Given the description of an element on the screen output the (x, y) to click on. 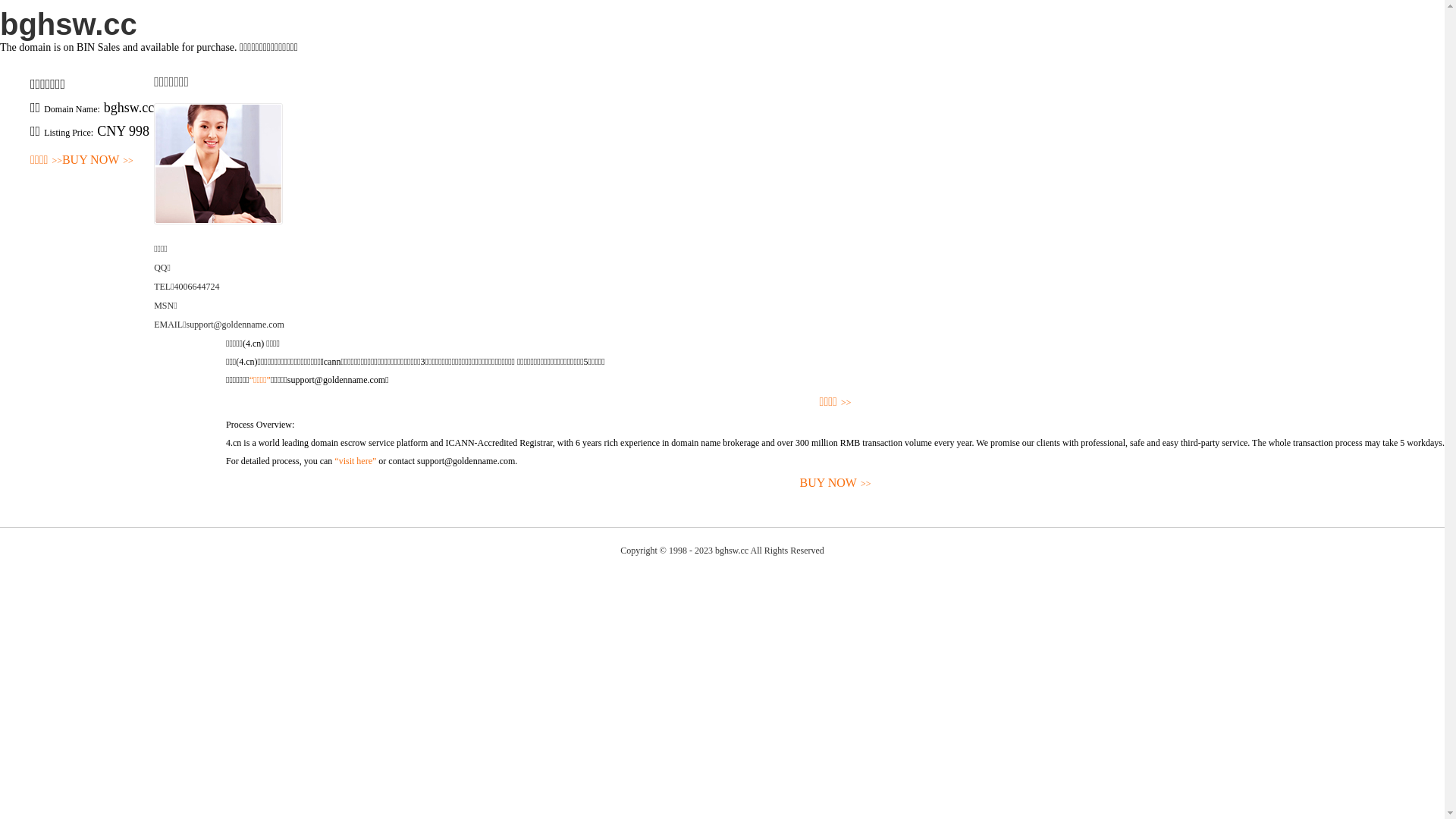
BUY NOW>> Element type: text (97, 160)
BUY NOW>> Element type: text (834, 483)
